Given the description of an element on the screen output the (x, y) to click on. 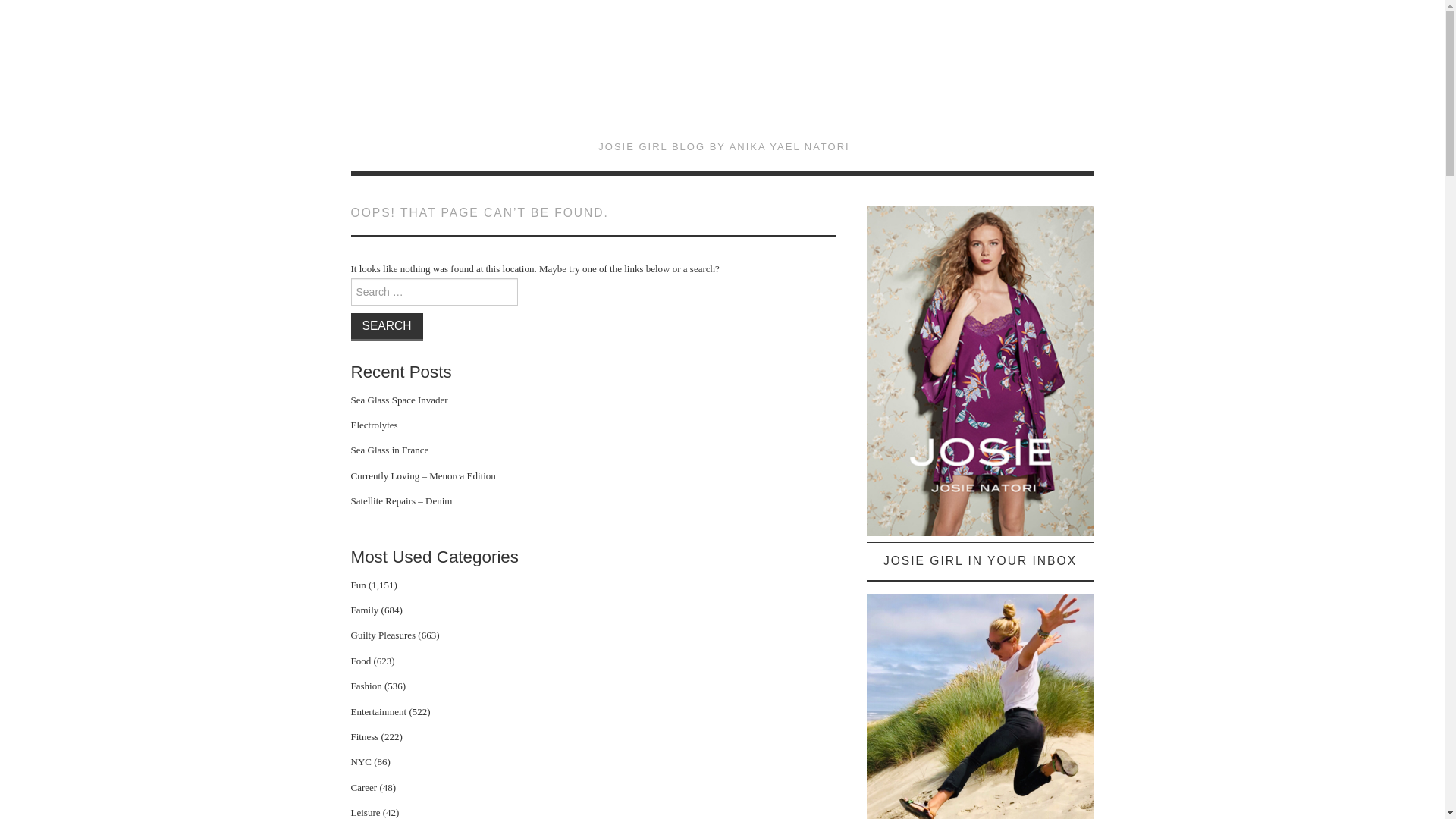
Sea Glass in France (389, 449)
NYC (360, 761)
Guilty Pleasures (382, 634)
Entertainment (378, 711)
Family (364, 609)
Fashion (365, 685)
Electrolytes (373, 424)
Search for: (433, 290)
Search (386, 326)
Search (386, 326)
Food (360, 660)
Josie Girl Blog (722, 80)
JOSIE GIRL BLOG (722, 80)
Career (363, 787)
Leisure (365, 812)
